Given the description of an element on the screen output the (x, y) to click on. 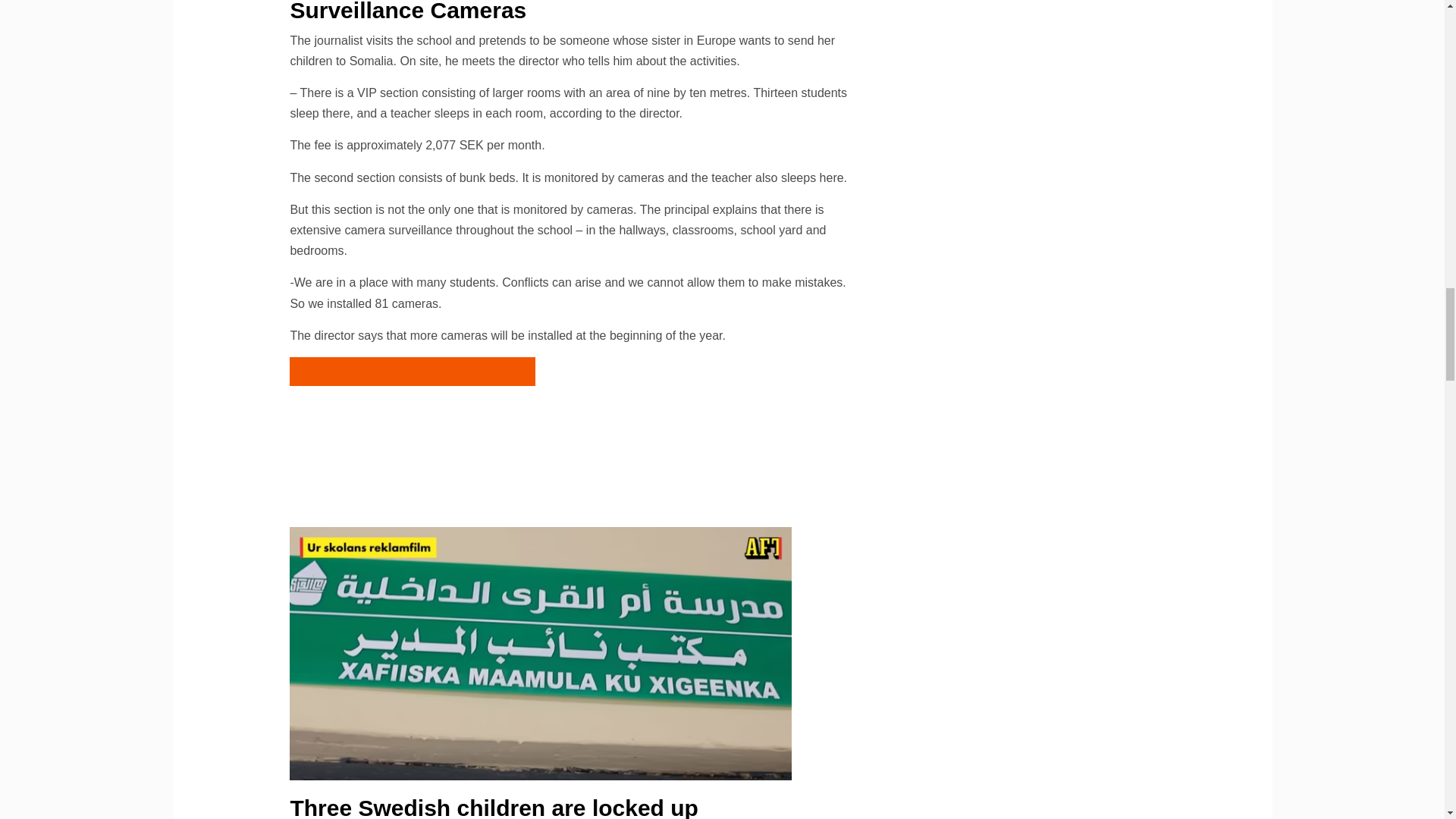
Expand left (411, 429)
